Given the description of an element on the screen output the (x, y) to click on. 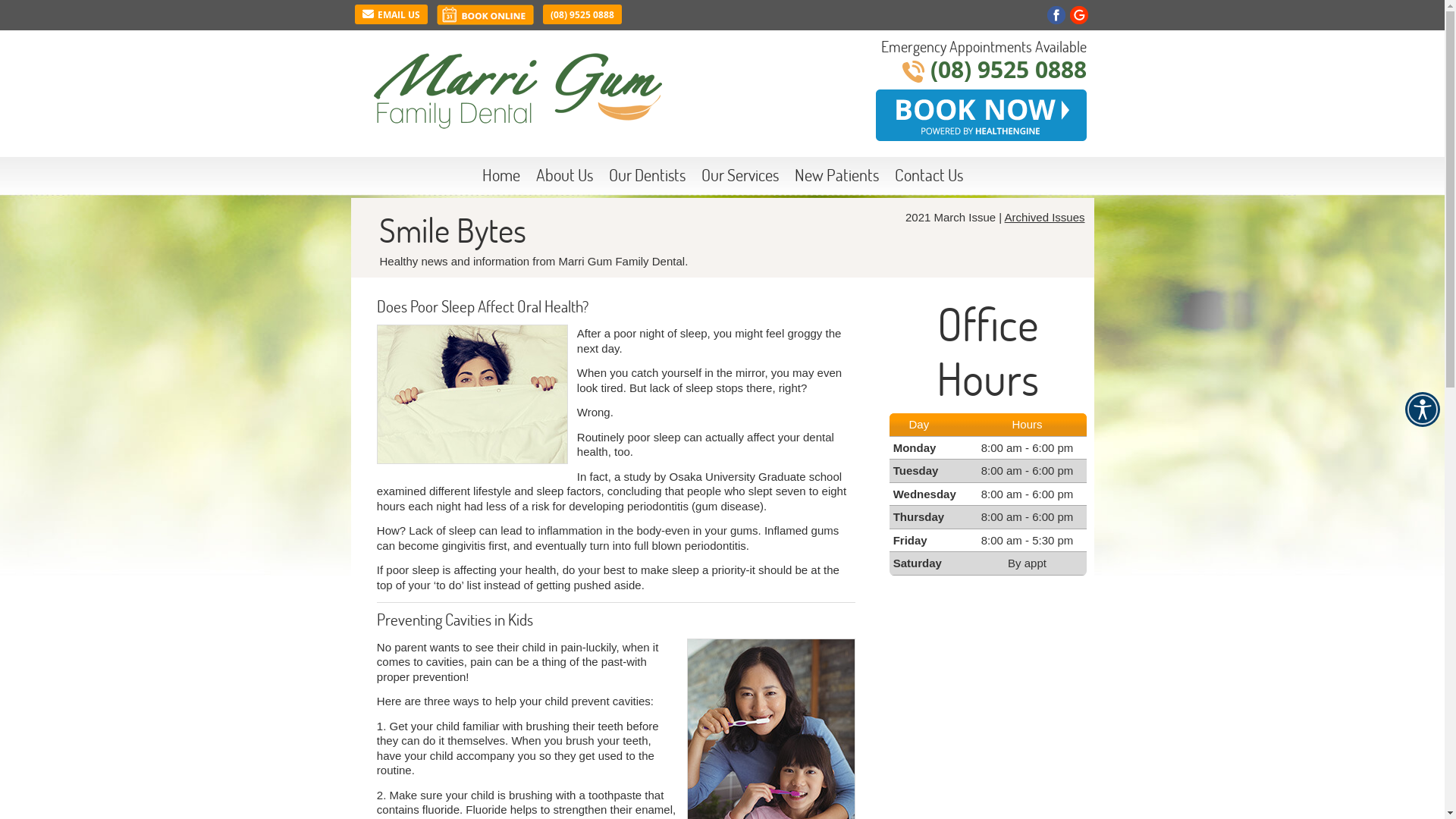
Contact Us Element type: text (928, 174)
Our Dentists Element type: text (646, 174)
New Patients Element type: text (837, 174)
EMAIL US Element type: text (390, 14)
About Us Element type: text (563, 174)
(08) 9525 0888 Element type: text (581, 14)
(08) 9525 0888 Element type: text (1007, 68)
Marri Gum Family Dental Element type: text (517, 124)
Our Services Element type: text (739, 174)
Home Element type: text (501, 174)
Archived Issues Element type: text (1044, 216)
